Given the description of an element on the screen output the (x, y) to click on. 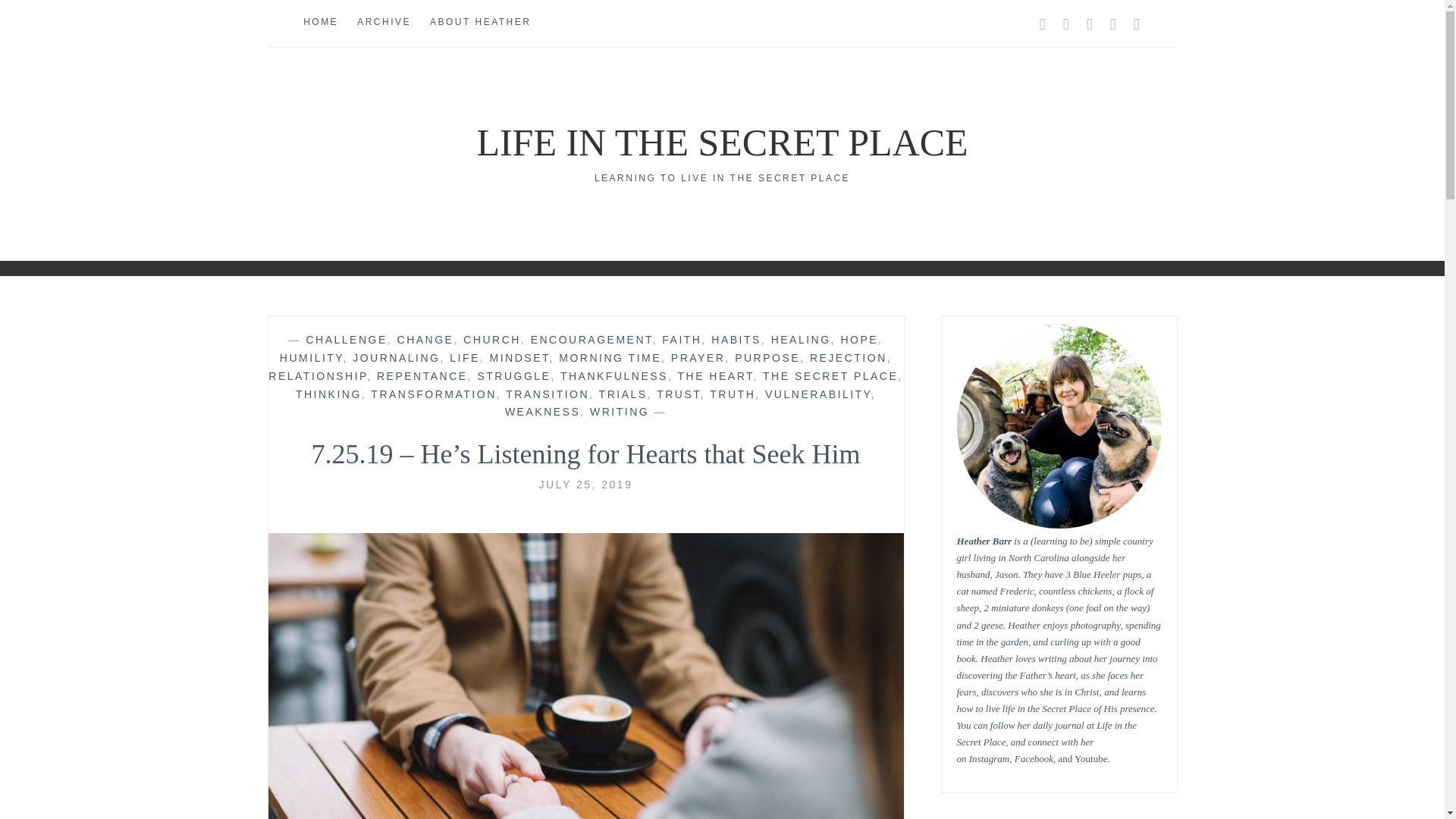
ABOUT HEATHER (480, 22)
ENCOURAGEMENT (591, 339)
HUMILITY (311, 357)
HABITS (736, 339)
CHANGE (425, 339)
THE SECRET PLACE (830, 376)
TRANSITION (547, 394)
MINDSET (519, 357)
TRUTH (732, 394)
HOPE (858, 339)
